Given the description of an element on the screen output the (x, y) to click on. 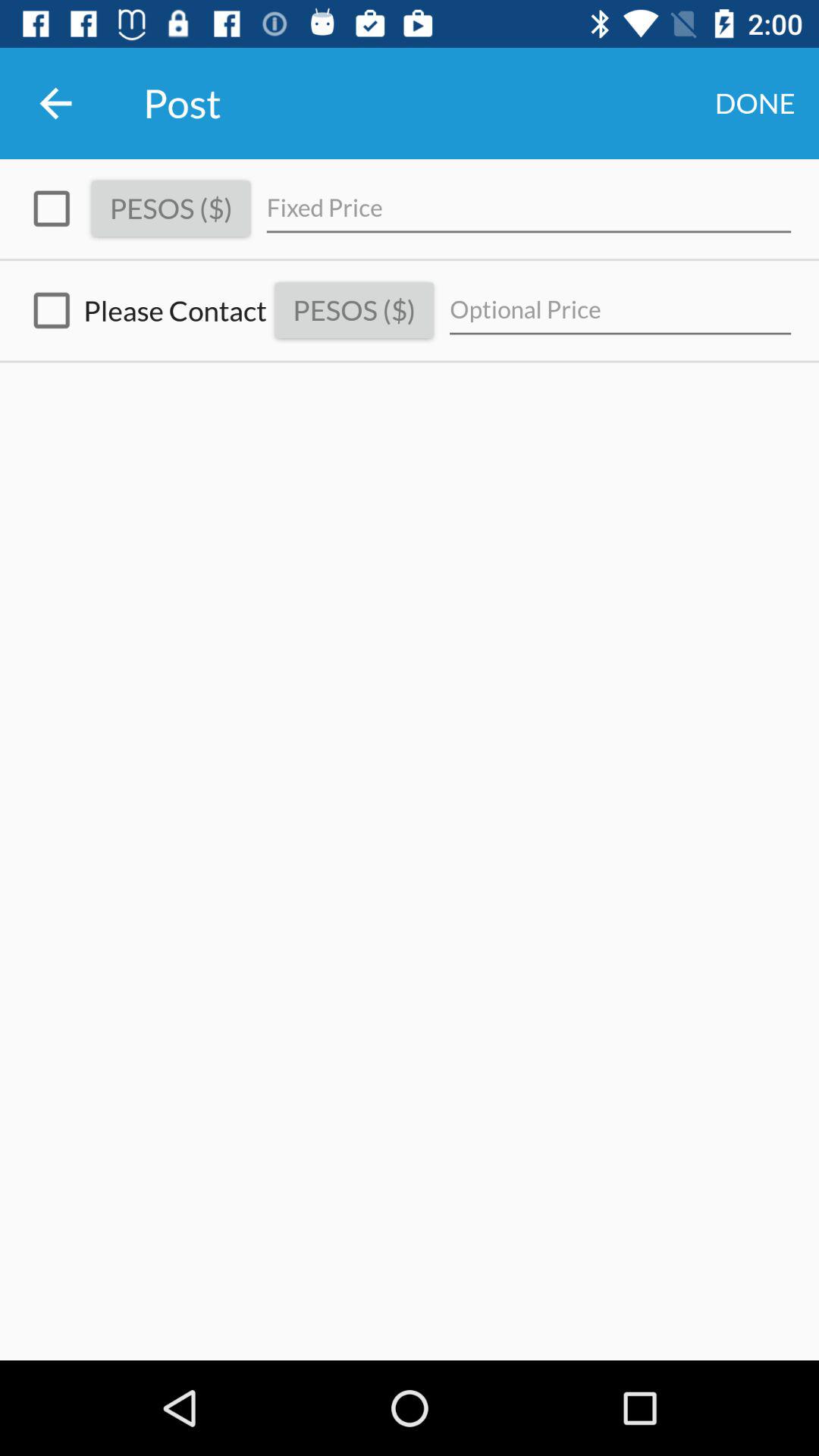
click icon next to the post item (755, 103)
